Given the description of an element on the screen output the (x, y) to click on. 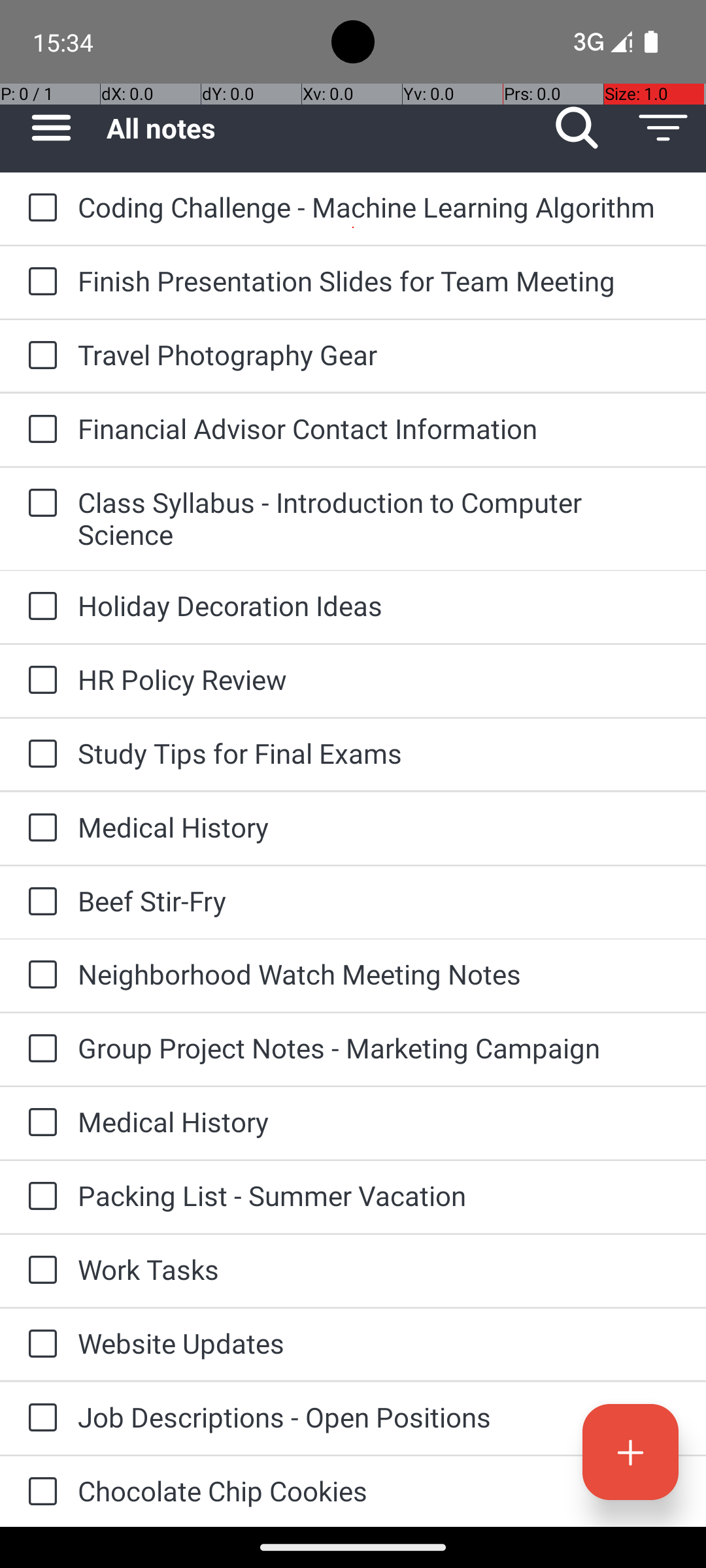
to-do: Coding Challenge - Machine Learning Algorithm Element type: android.widget.CheckBox (38, 208)
Coding Challenge - Machine Learning Algorithm Element type: android.widget.TextView (378, 206)
to-do: Finish Presentation Slides for Team Meeting Element type: android.widget.CheckBox (38, 282)
Finish Presentation Slides for Team Meeting Element type: android.widget.TextView (378, 280)
to-do: Travel Photography Gear Element type: android.widget.CheckBox (38, 356)
Travel Photography Gear Element type: android.widget.TextView (378, 354)
to-do: Class Syllabus - Introduction to Computer Science Element type: android.widget.CheckBox (38, 503)
Class Syllabus - Introduction to Computer Science Element type: android.widget.TextView (378, 517)
to-do: Holiday Decoration Ideas Element type: android.widget.CheckBox (38, 606)
Holiday Decoration Ideas Element type: android.widget.TextView (378, 604)
to-do: HR Policy Review Element type: android.widget.CheckBox (38, 680)
HR Policy Review Element type: android.widget.TextView (378, 678)
to-do: Study Tips for Final Exams Element type: android.widget.CheckBox (38, 754)
Study Tips for Final Exams Element type: android.widget.TextView (378, 752)
to-do: Medical History Element type: android.widget.CheckBox (38, 828)
Medical History Element type: android.widget.TextView (378, 826)
to-do: Beef Stir-Fry Element type: android.widget.CheckBox (38, 902)
Beef Stir-Fry Element type: android.widget.TextView (378, 900)
to-do: Neighborhood Watch Meeting Notes Element type: android.widget.CheckBox (38, 975)
Neighborhood Watch Meeting Notes Element type: android.widget.TextView (378, 973)
to-do: Group Project Notes - Marketing Campaign Element type: android.widget.CheckBox (38, 1049)
Group Project Notes - Marketing Campaign Element type: android.widget.TextView (378, 1047)
to-do: Packing List - Summer Vacation Element type: android.widget.CheckBox (38, 1196)
Packing List - Summer Vacation Element type: android.widget.TextView (378, 1194)
to-do: Work Tasks Element type: android.widget.CheckBox (38, 1270)
Work Tasks Element type: android.widget.TextView (378, 1268)
to-do: Website Updates Element type: android.widget.CheckBox (38, 1344)
Website Updates Element type: android.widget.TextView (378, 1342)
to-do: Job Descriptions - Open Positions Element type: android.widget.CheckBox (38, 1418)
Job Descriptions - Open Positions Element type: android.widget.TextView (378, 1416)
to-do: Chocolate Chip Cookies Element type: android.widget.CheckBox (38, 1491)
Chocolate Chip Cookies Element type: android.widget.TextView (378, 1490)
